Given the description of an element on the screen output the (x, y) to click on. 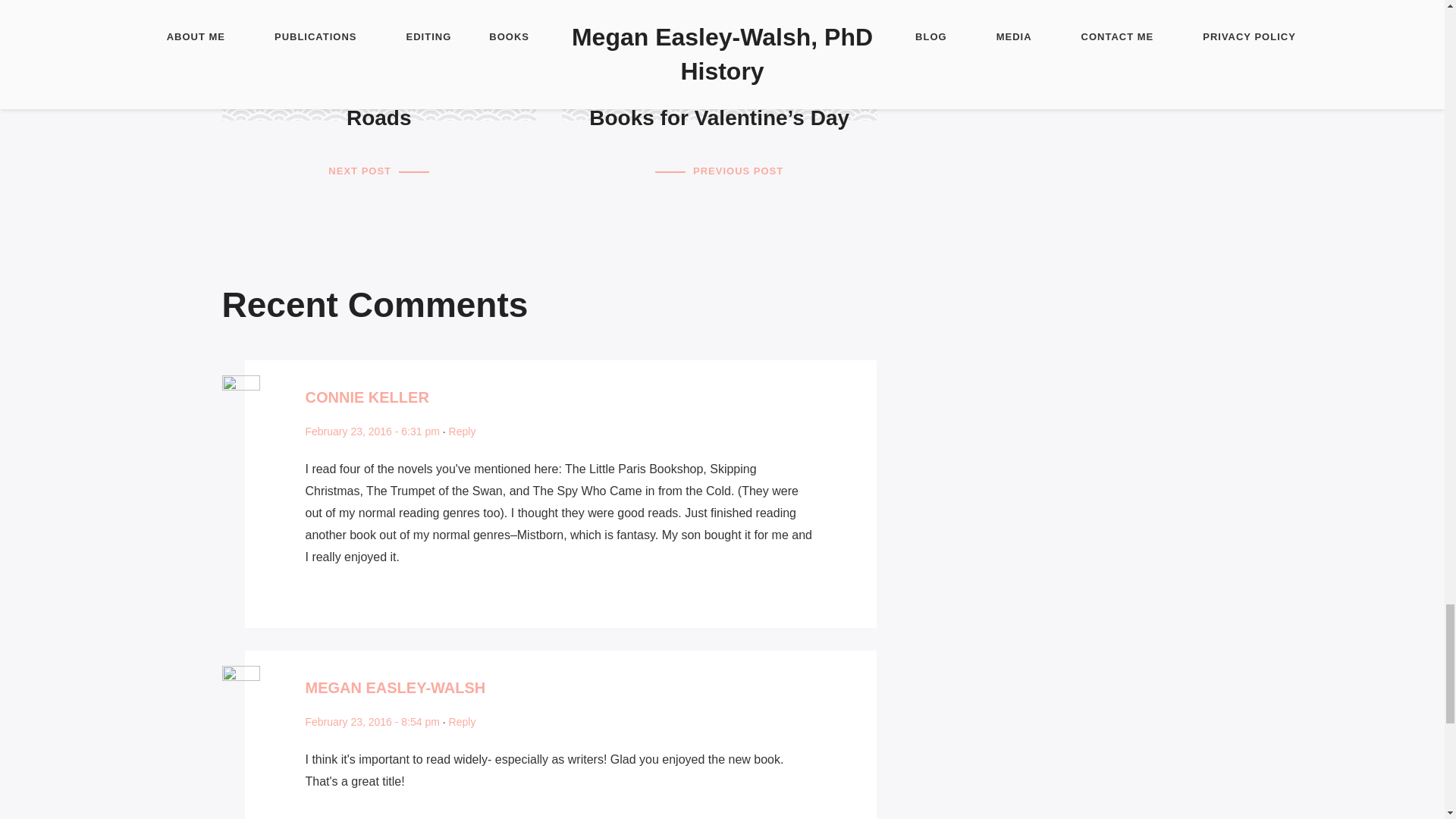
Reply (462, 721)
Reply (462, 430)
CONNIE KELLER (378, 127)
MEGAN EASLEY-WALSH (366, 396)
February 23, 2016 - 6:31 pm (394, 687)
February 23, 2016 - 8:54 pm (371, 430)
